Given the description of an element on the screen output the (x, y) to click on. 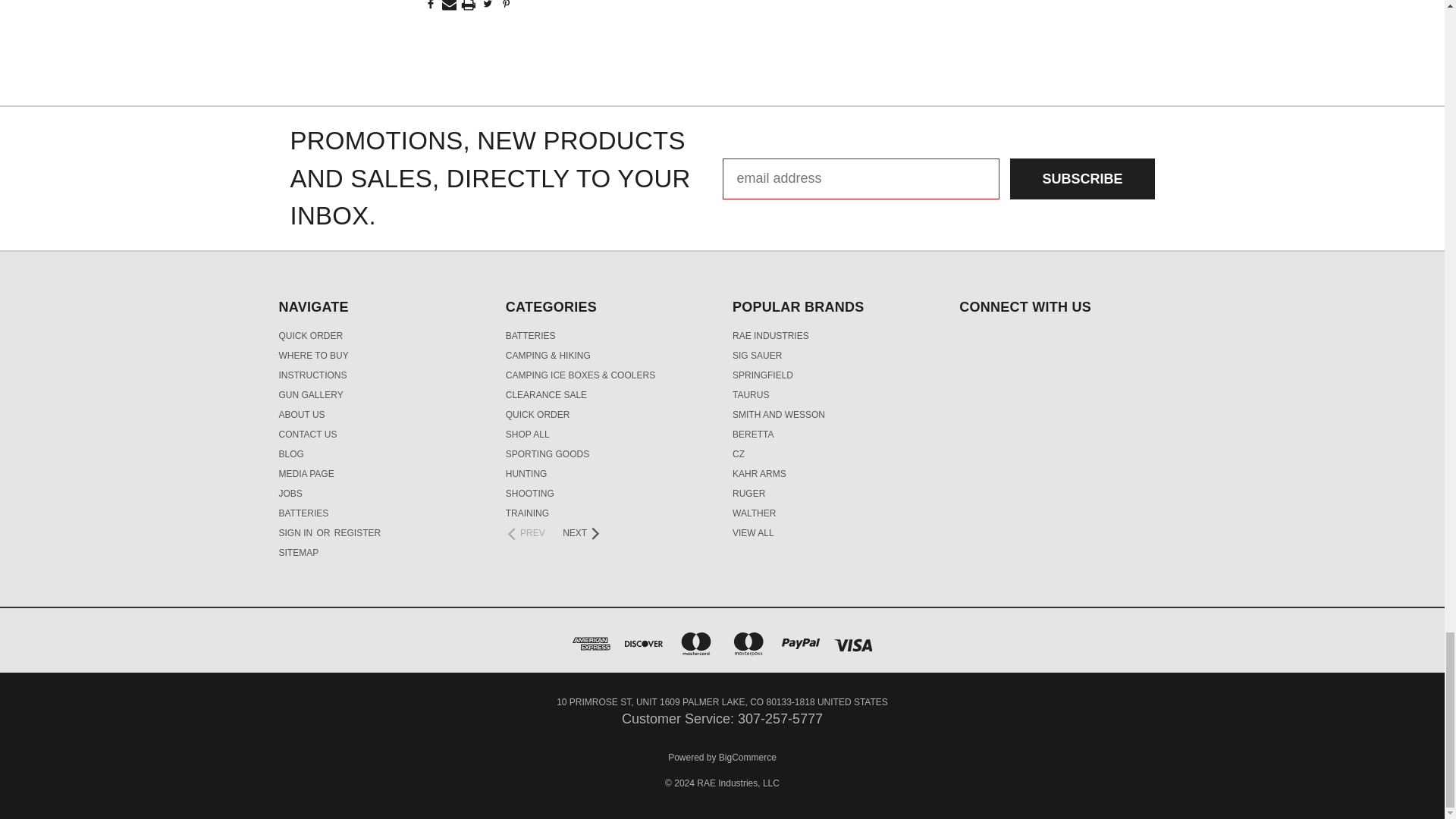
Subscribe (1082, 178)
